Given the description of an element on the screen output the (x, y) to click on. 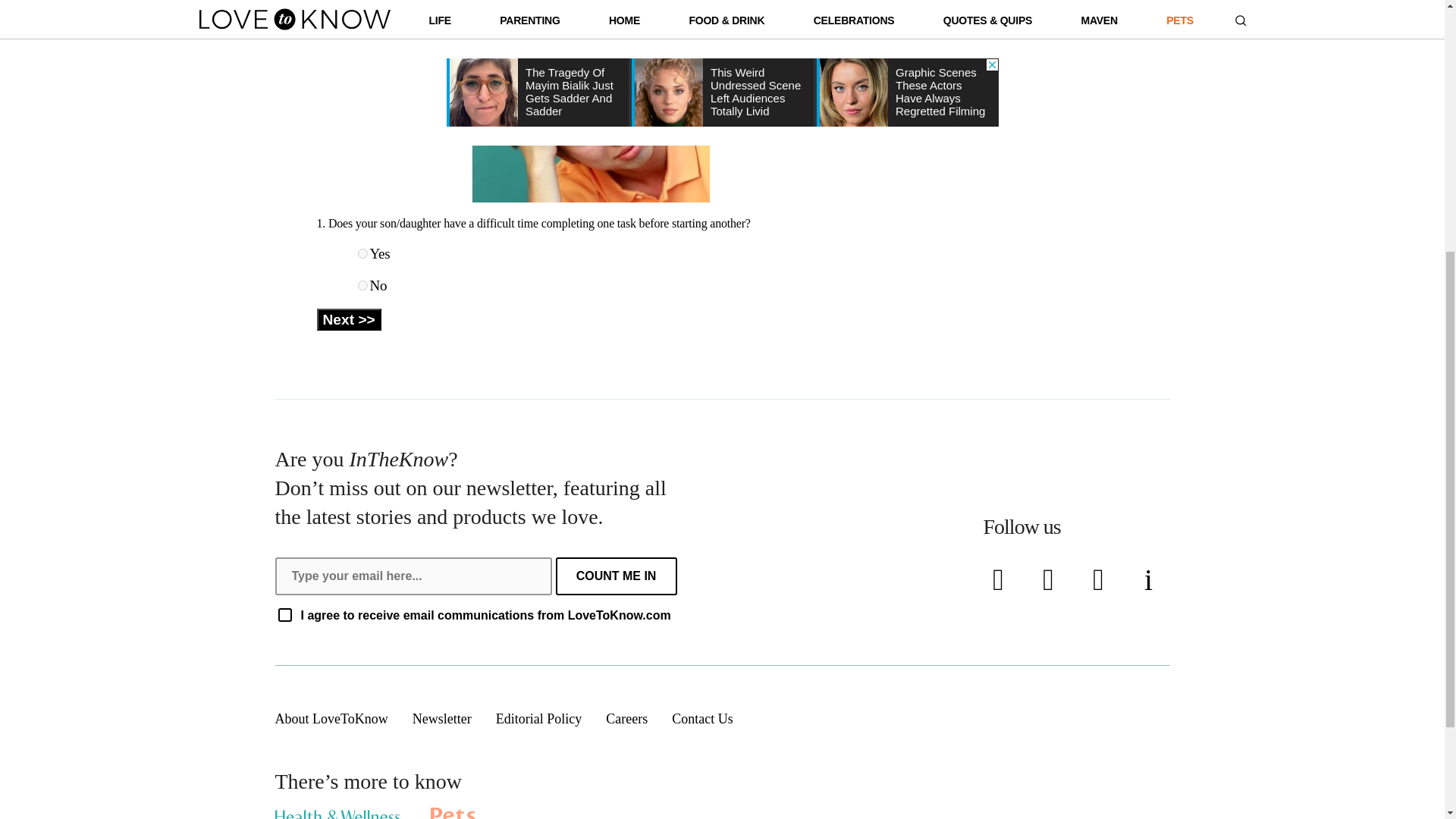
3rd party ad content (1014, 43)
on (284, 614)
20209 (363, 285)
Follow LoveToKnow on Facebook (1000, 580)
Follow LoveToKnow on Instagram (1150, 580)
Follow LoveToKnow on Pinterest (1101, 580)
Follow LoveToKnow on Twitter (1050, 580)
20208 (363, 253)
